Given the description of an element on the screen output the (x, y) to click on. 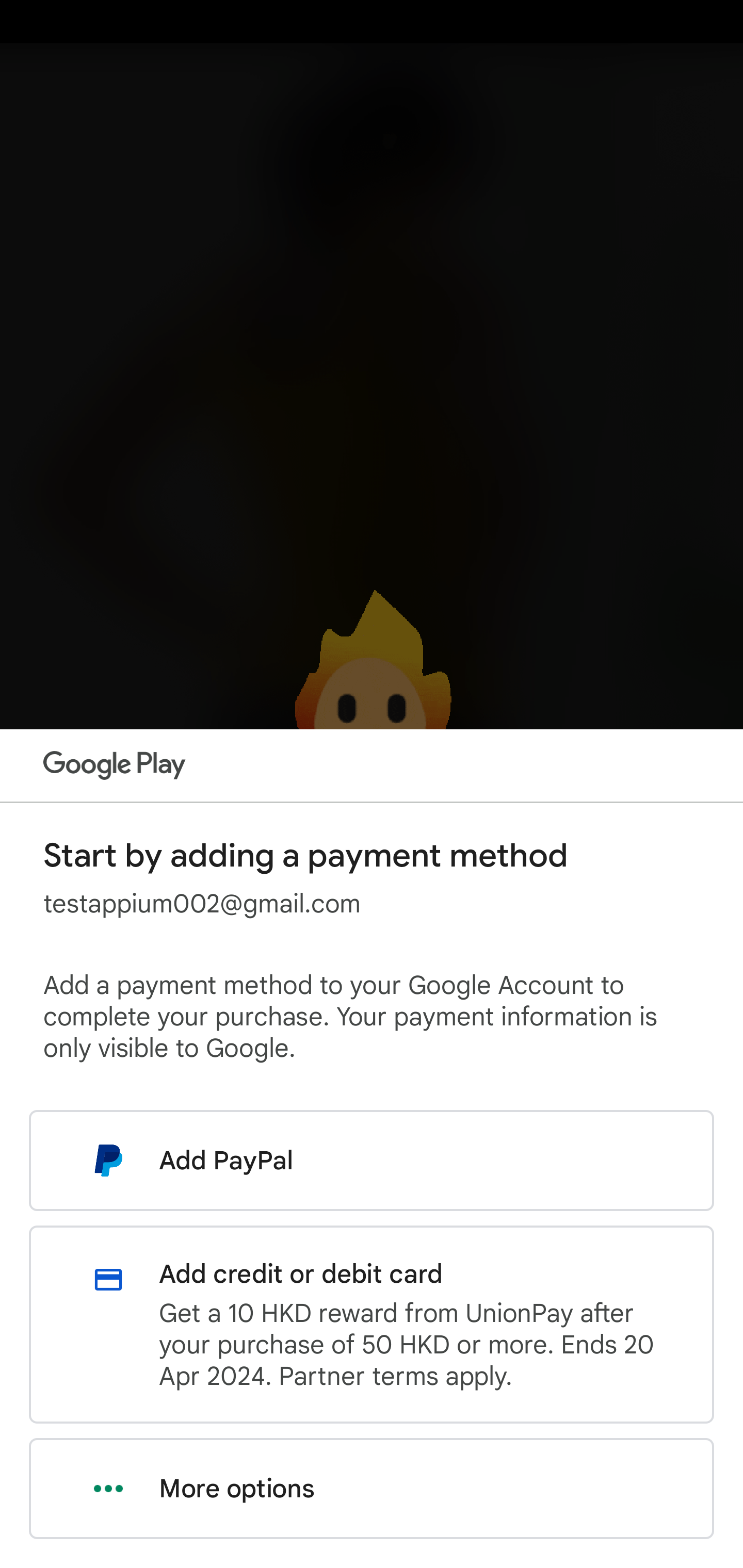
Add PayPal (371, 1160)
More options (371, 1488)
